Given the description of an element on the screen output the (x, y) to click on. 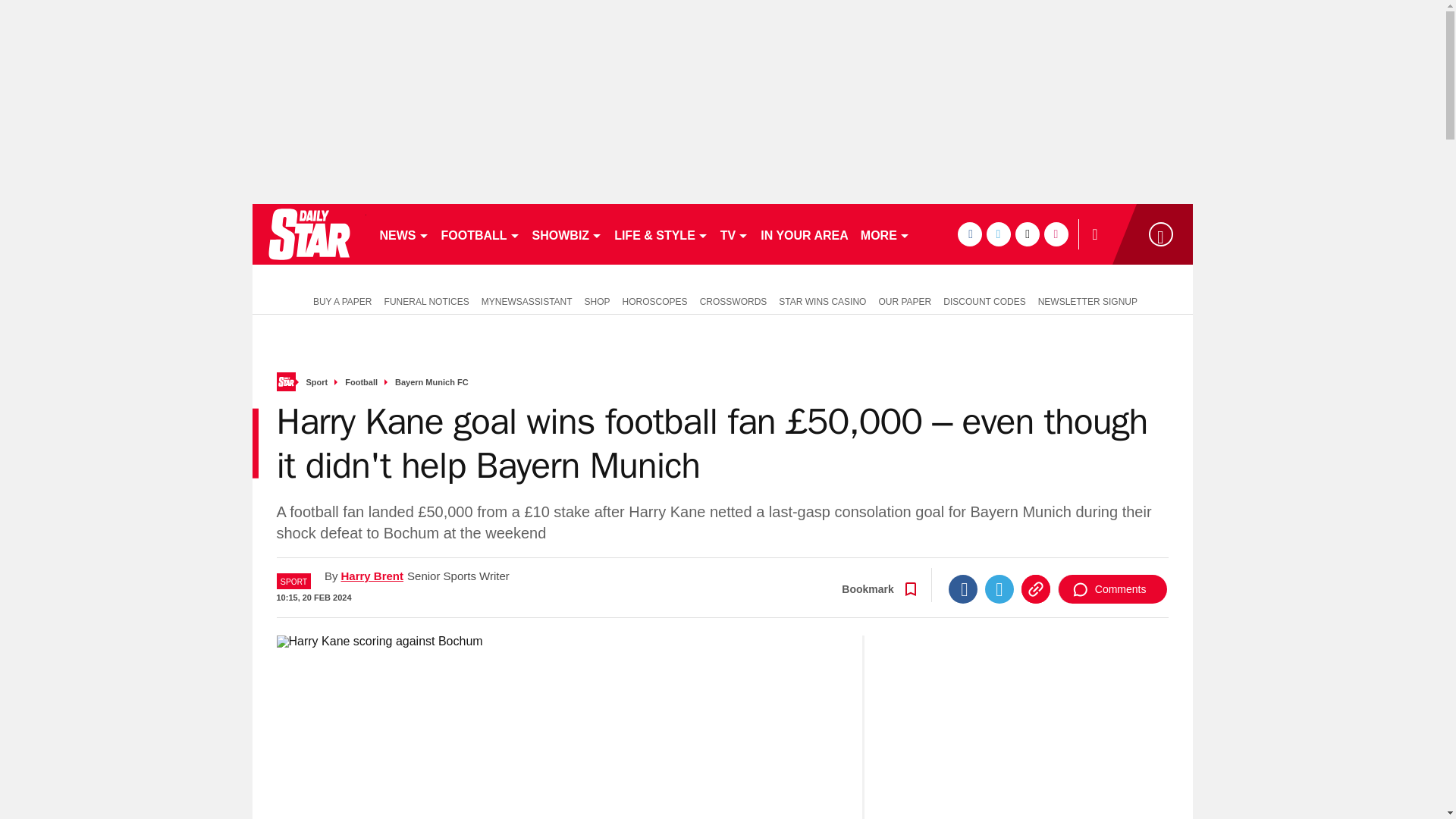
twitter (997, 233)
Comments (1112, 588)
SHOWBIZ (566, 233)
Facebook (962, 588)
instagram (1055, 233)
tiktok (1026, 233)
dailystar (308, 233)
FOOTBALL (480, 233)
facebook (968, 233)
Twitter (999, 588)
